Given the description of an element on the screen output the (x, y) to click on. 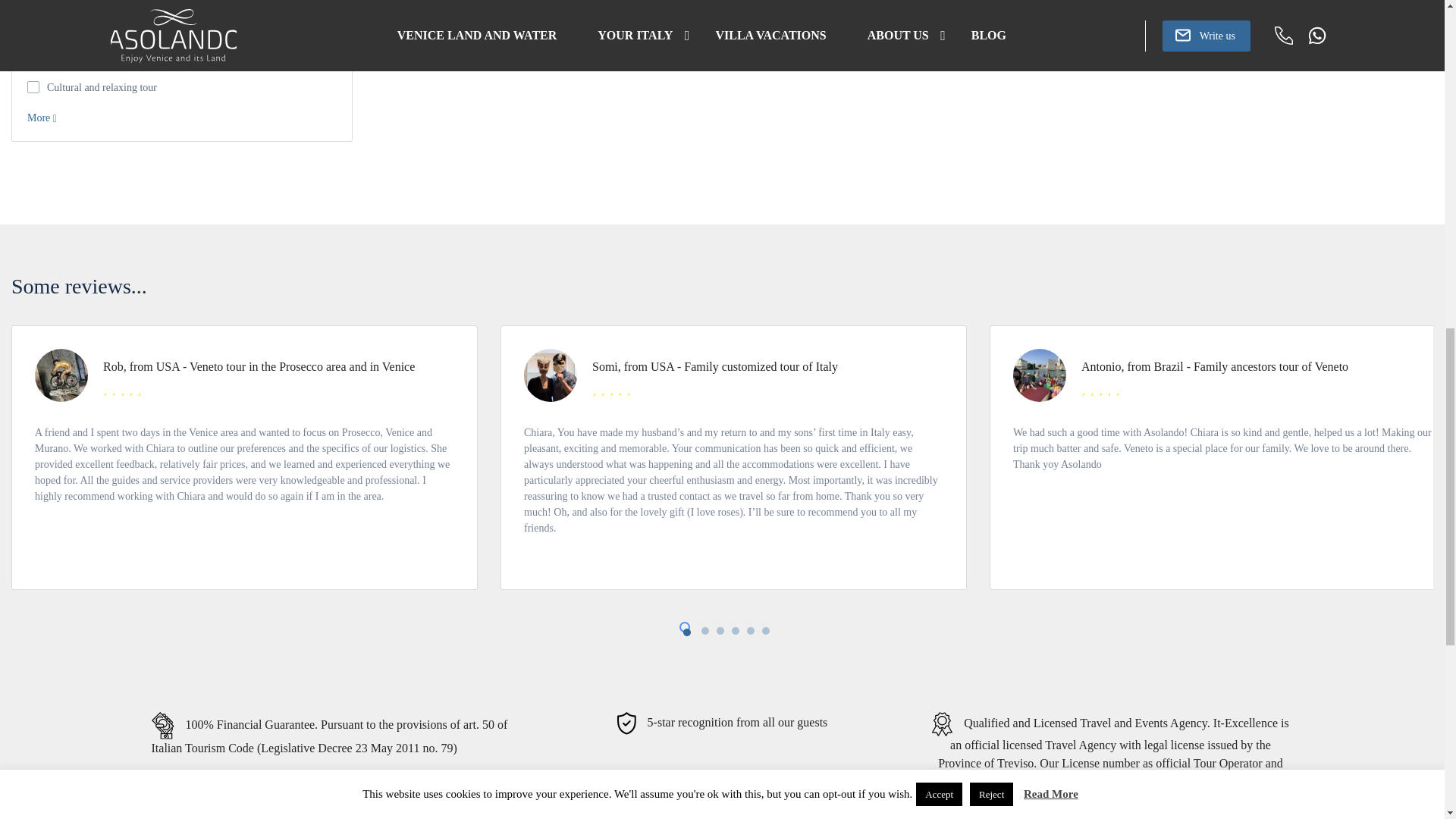
More (41, 118)
